Given the description of an element on the screen output the (x, y) to click on. 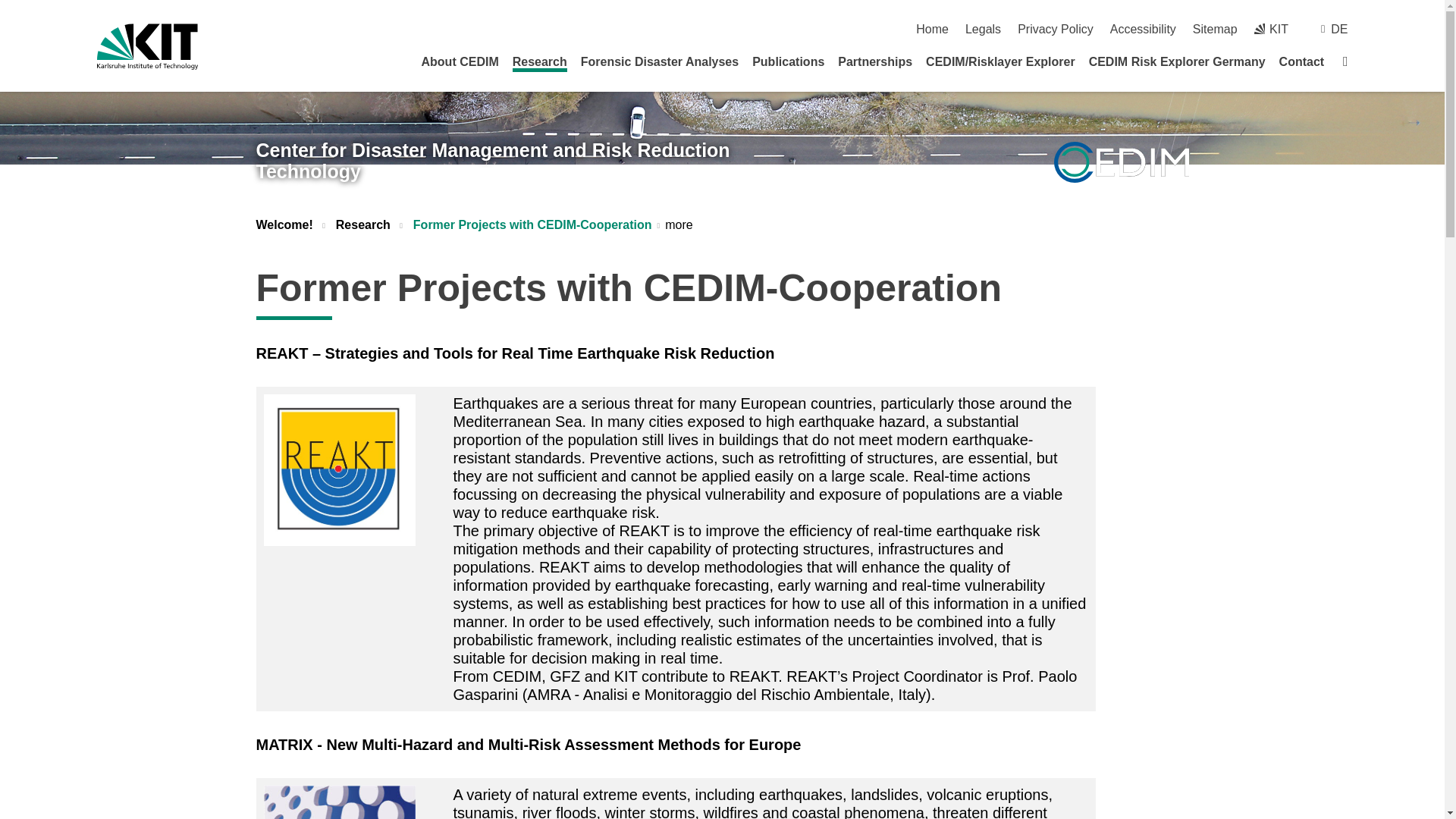
About CEDIM (460, 61)
Privacy Policy (1055, 29)
Home (932, 29)
Accessibility (1142, 29)
KIT (1270, 29)
Legals (983, 29)
KIT-Homepage (1270, 29)
Sitemap (1214, 29)
DE (1339, 29)
KIT-Homepage (147, 46)
